Given the description of an element on the screen output the (x, y) to click on. 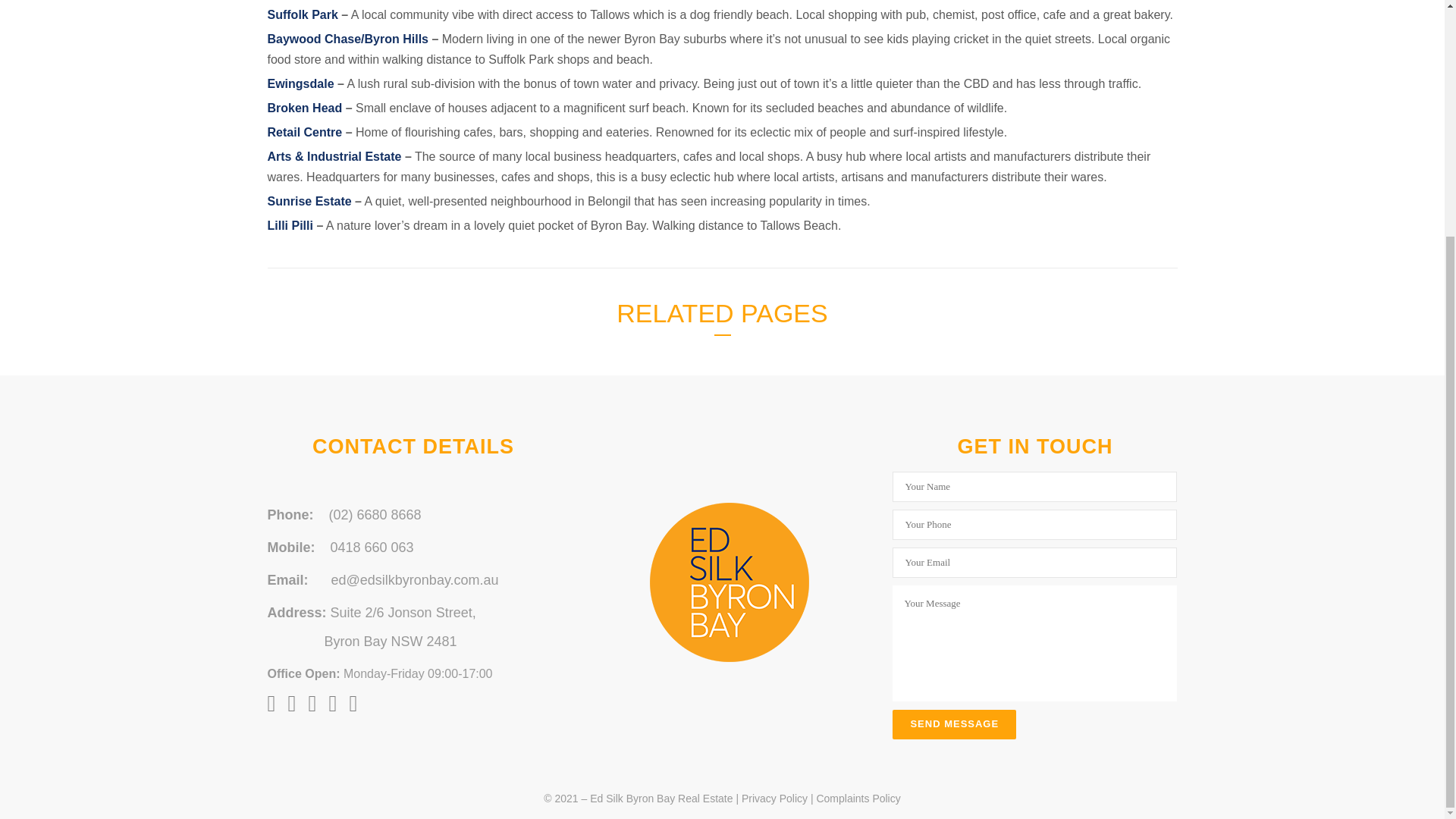
Send Message (954, 724)
Sunrise Estate (308, 201)
Retail Centre (304, 132)
Lilli Pilli (289, 225)
Ewingsdale (299, 83)
Suffolk Park (301, 14)
Broken Head (304, 107)
